Given the description of an element on the screen output the (x, y) to click on. 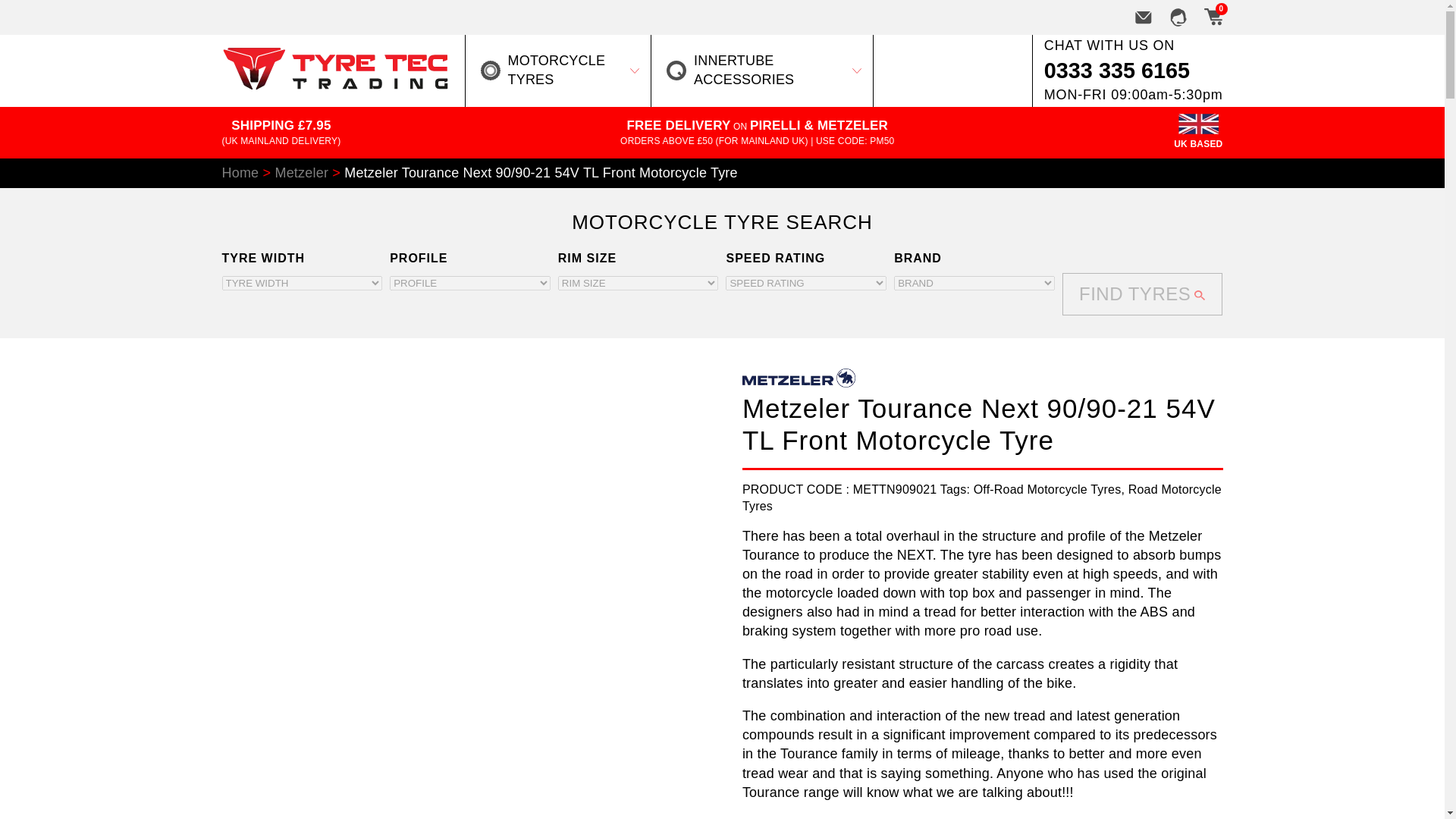
MOTORCYCLE TYRES (557, 70)
TyreTec Trading (334, 85)
0 (1212, 17)
